Given the description of an element on the screen output the (x, y) to click on. 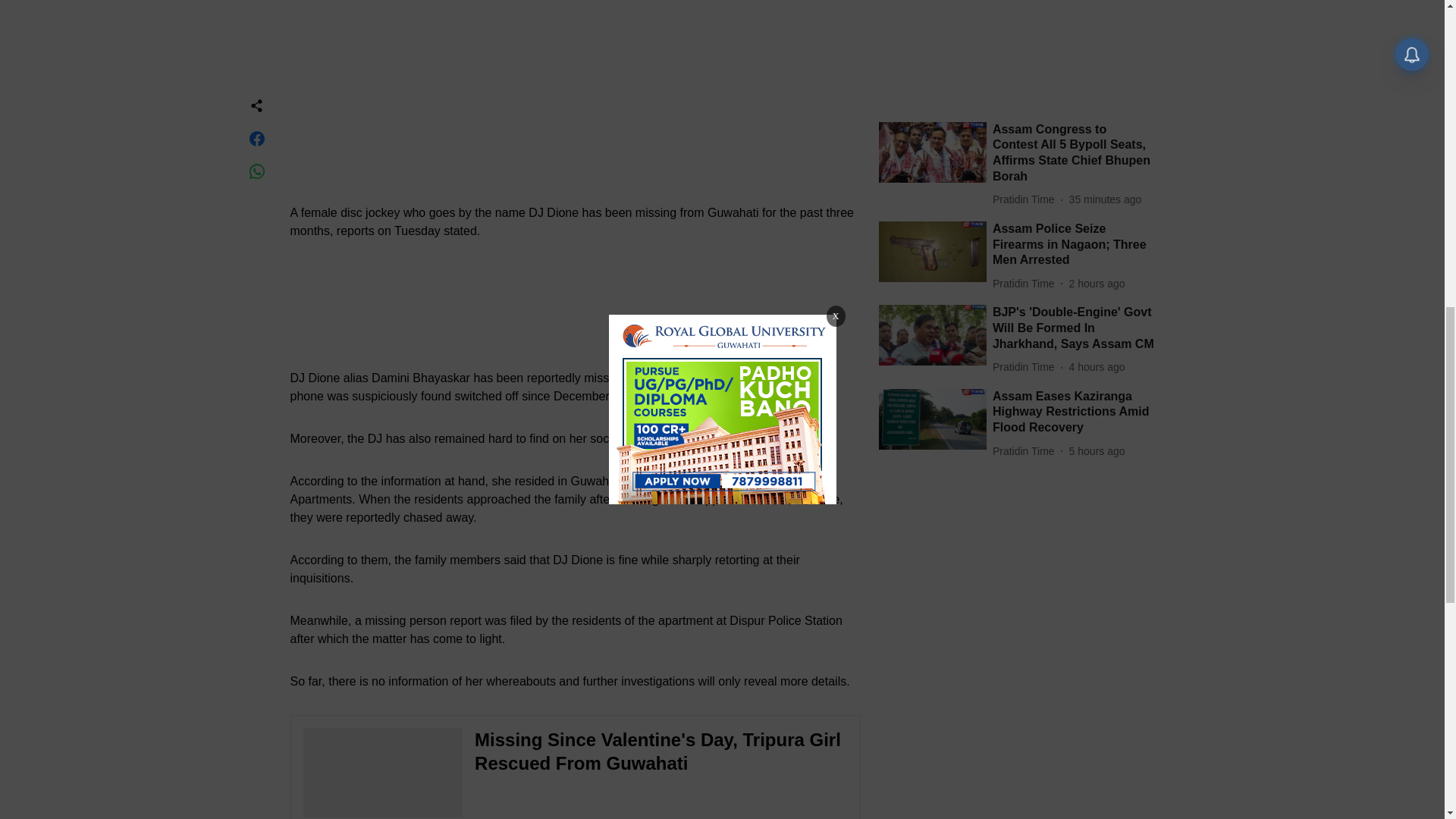
2024-07-16 11:09 (1104, 48)
2024-07-16 07:10 (1096, 299)
2024-07-16 09:28 (1096, 132)
2024-07-16 07:17 (1096, 215)
